Given the description of an element on the screen output the (x, y) to click on. 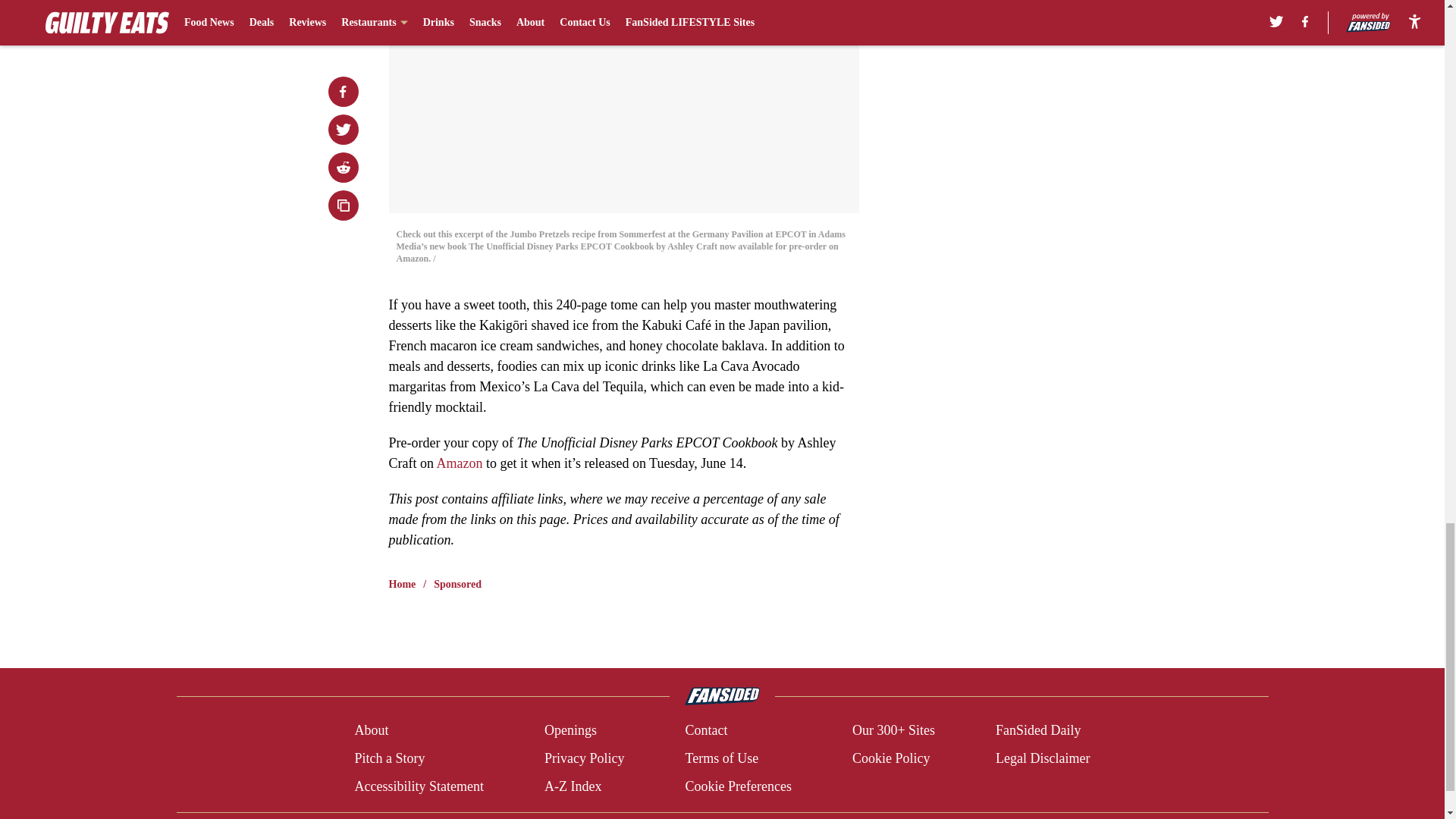
Openings (570, 730)
Contact (705, 730)
FanSided Daily (1038, 730)
Home (401, 584)
Amazon (459, 462)
About (370, 730)
Privacy Policy (584, 758)
Sponsored (457, 584)
Pitch a Story (389, 758)
